Given the description of an element on the screen output the (x, y) to click on. 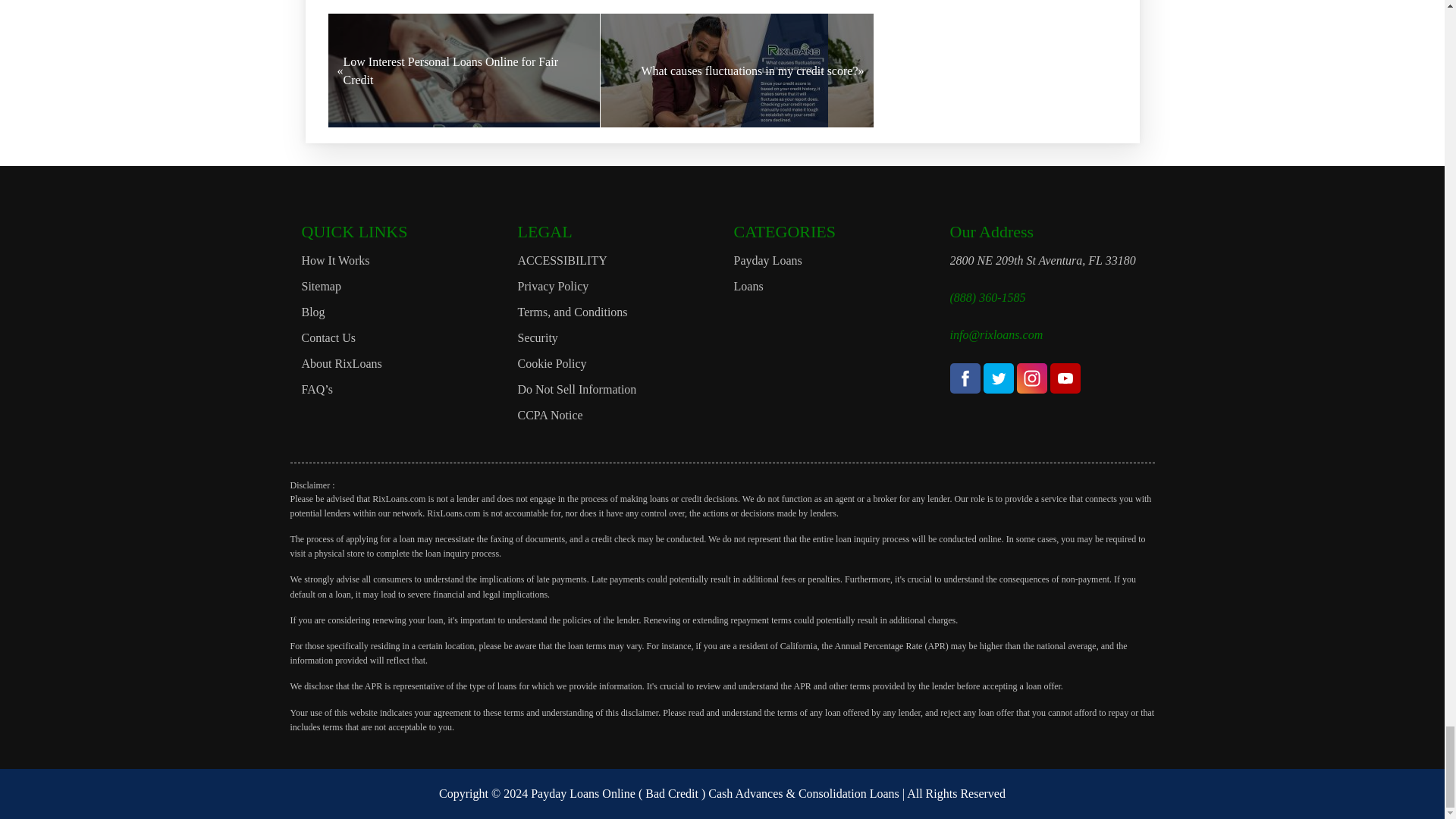
Rixloans Facebook (964, 378)
Twitter (997, 378)
Low Interest Personal Loans Online for Fair Credit (463, 70)
What causes fluctuations in my credit score? (736, 70)
Instagram (1031, 378)
YouTube (1064, 378)
